Given the description of an element on the screen output the (x, y) to click on. 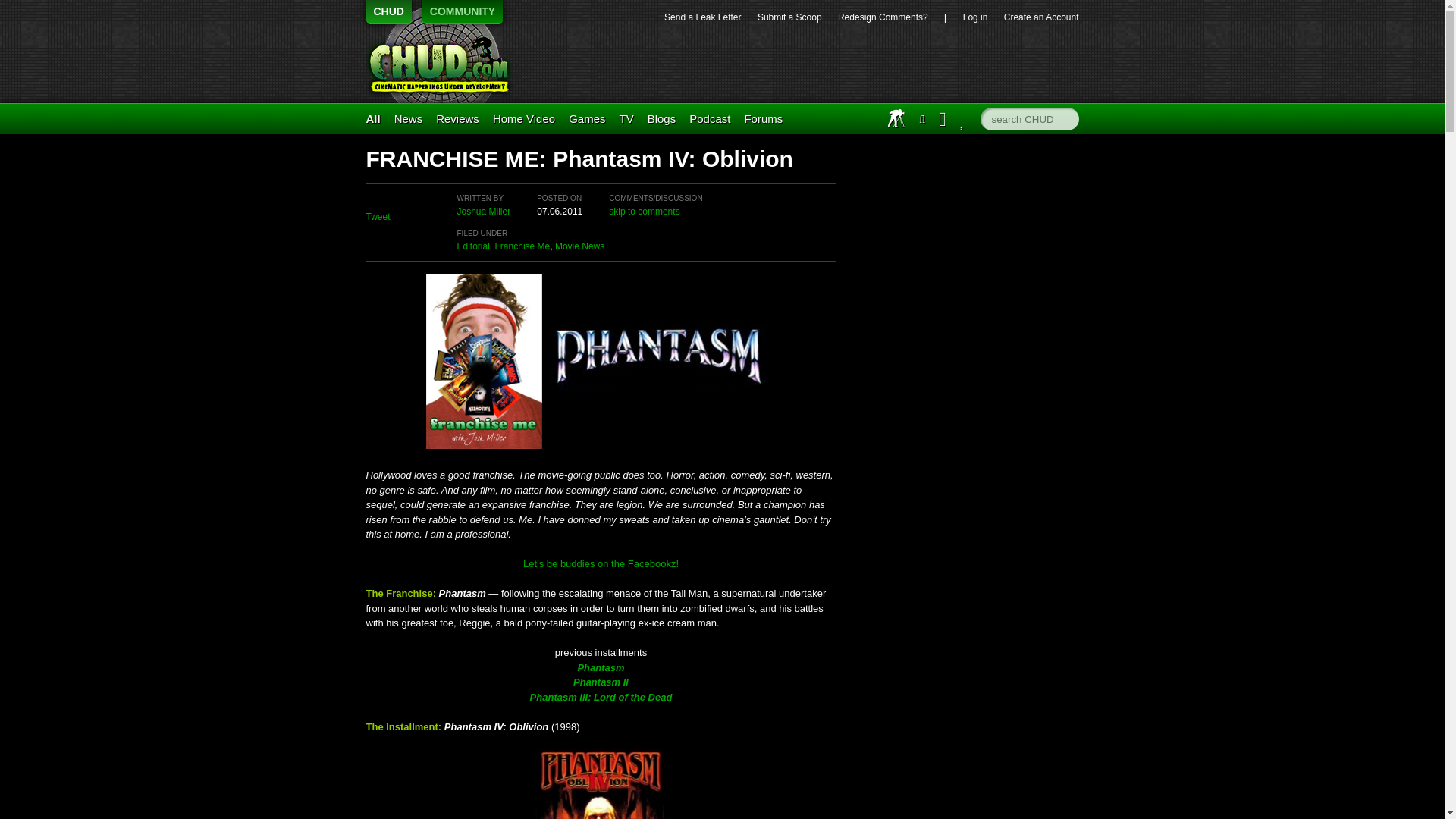
Franchise Me (522, 245)
TV (626, 118)
Reviews (457, 118)
skip to comments (643, 211)
Movie News (579, 245)
News (408, 118)
Blogs (662, 118)
Log in (975, 17)
Phantasm II (600, 689)
Forums (763, 118)
Podcast (709, 118)
IAFT (896, 117)
Games (587, 118)
Master Control Program (587, 118)
Editorial (473, 245)
